Given the description of an element on the screen output the (x, y) to click on. 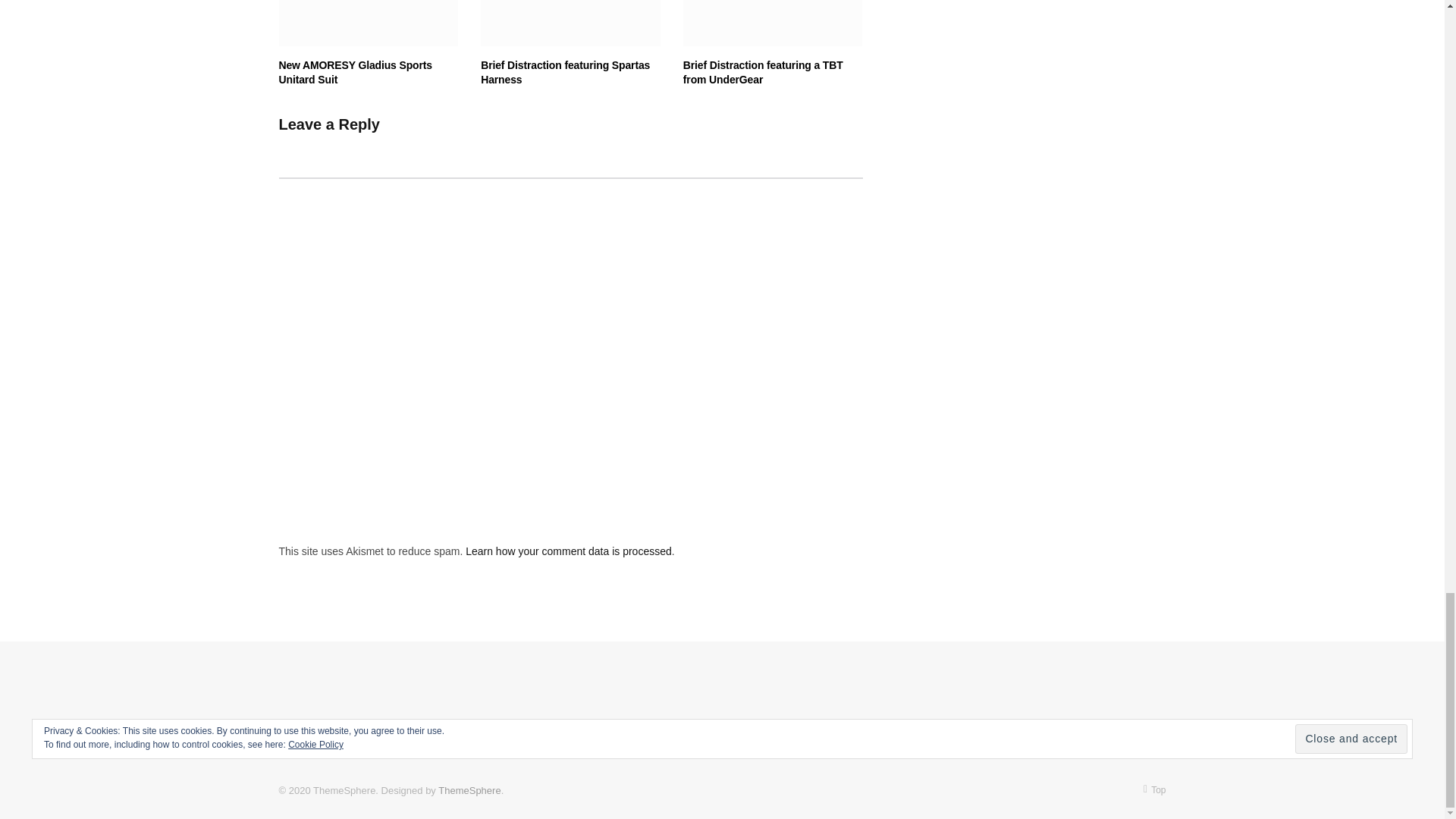
Brief Distraction featuring Spartas Harness (570, 22)
Brief Distraction featuring a TBT from UnderGear (772, 22)
New AMORESY Gladius Sports Unitard Suit (368, 22)
